Given the description of an element on the screen output the (x, y) to click on. 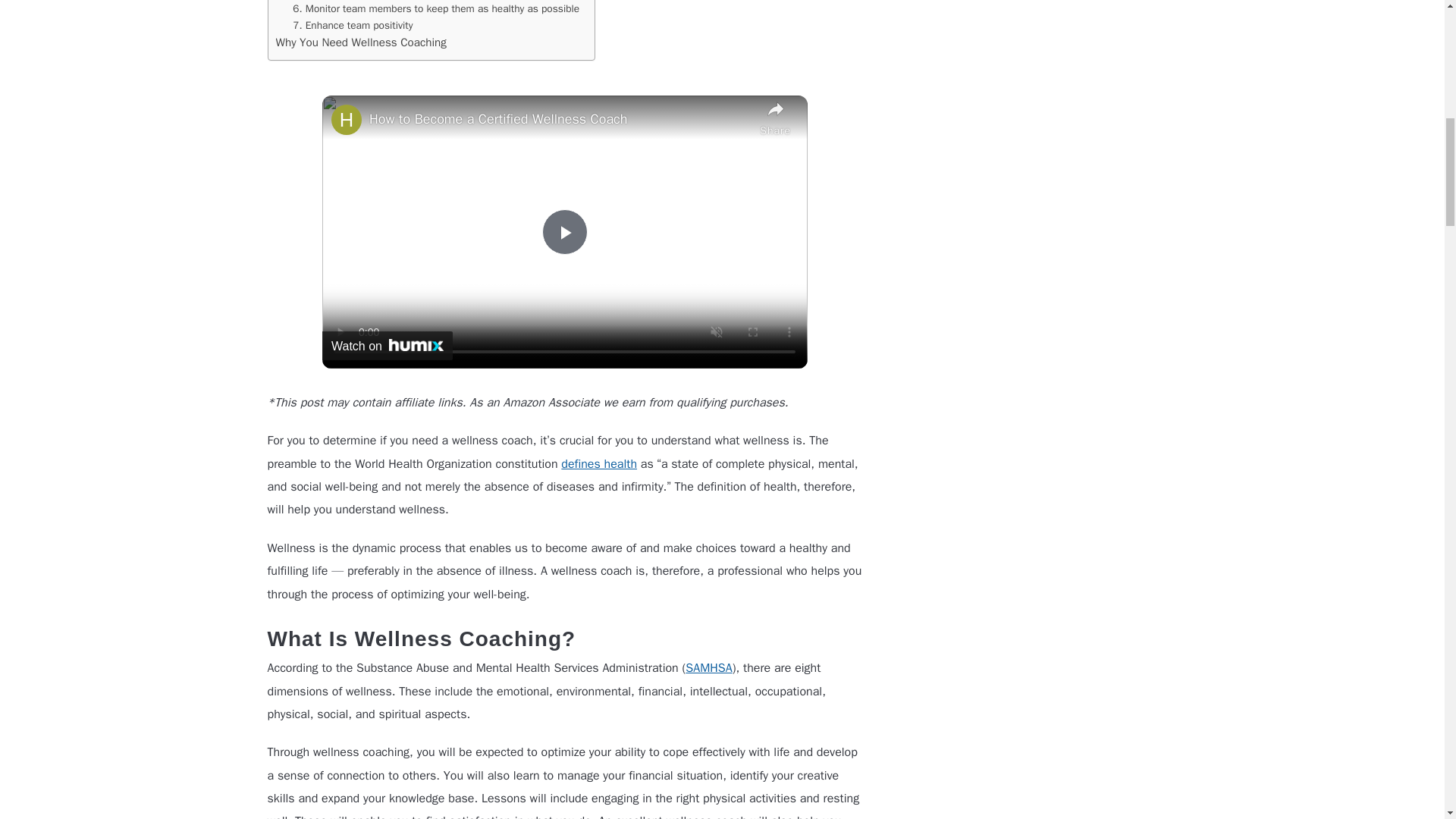
Play Video (564, 231)
7. Enhance team positivity (352, 25)
7. Enhance team positivity (352, 25)
Why You Need Wellness Coaching (361, 42)
Watch on (386, 345)
Play Video (564, 231)
6. Monitor team members to keep them as healthy as possible (435, 8)
How to Become a Certified Wellness Coach (560, 118)
6. Monitor team members to keep them as healthy as possible (435, 8)
defines health (598, 463)
Why You Need Wellness Coaching (361, 42)
